Given the description of an element on the screen output the (x, y) to click on. 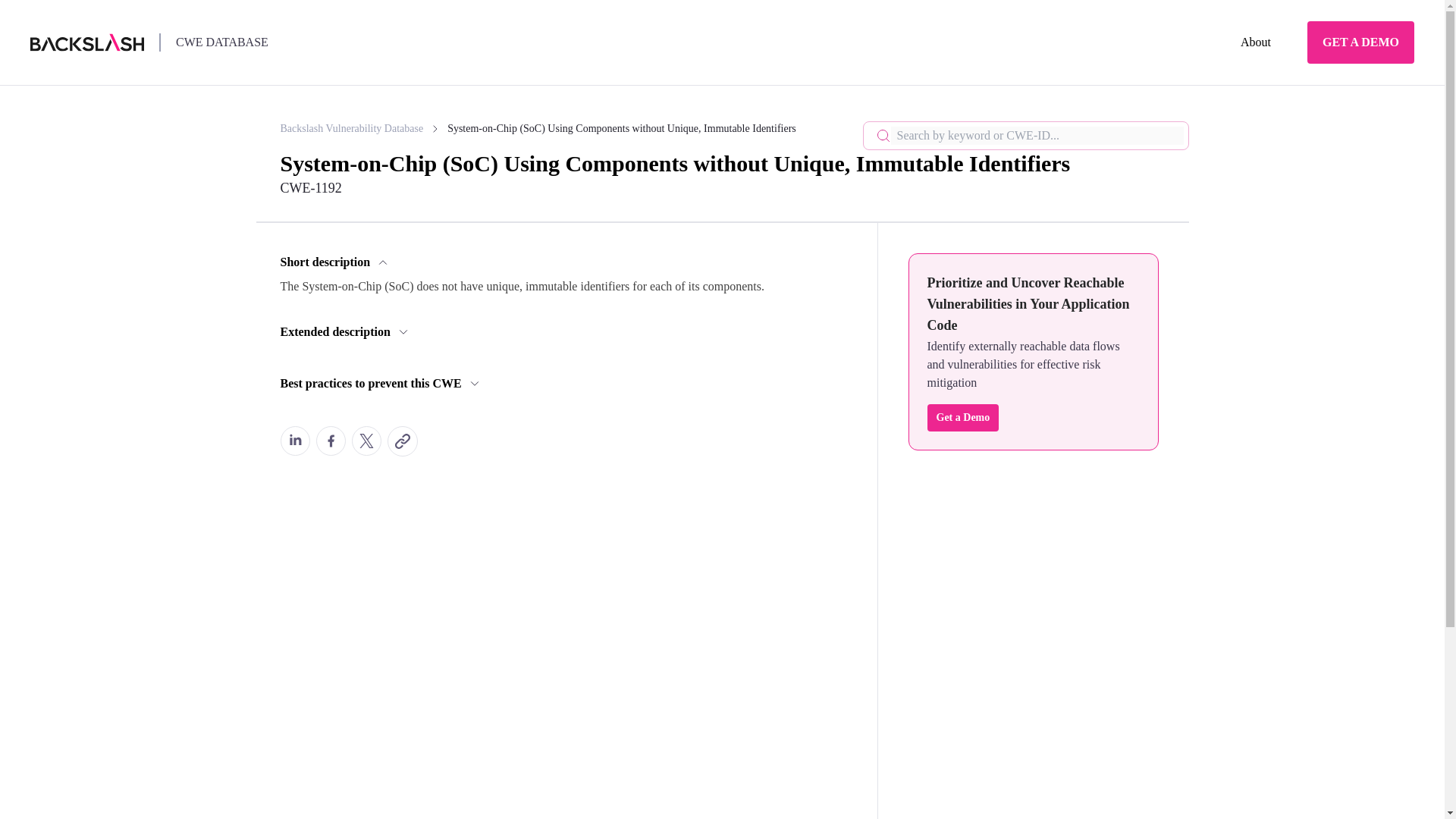
About (1255, 42)
Backslash Vulnerability Database (361, 128)
Get a Demo (962, 417)
GET A DEMO (1360, 42)
CWE DATABASE (221, 42)
